Given the description of an element on the screen output the (x, y) to click on. 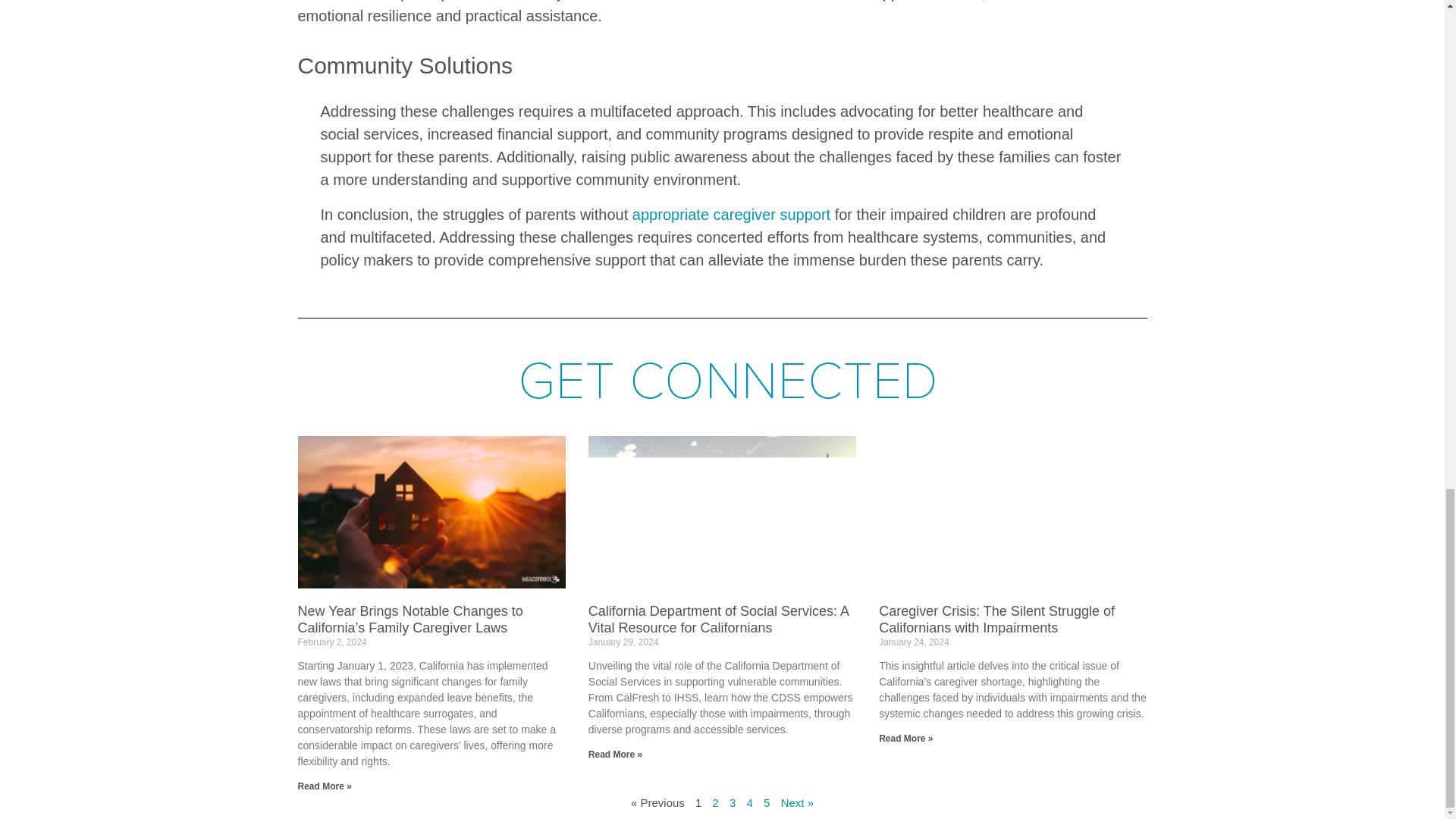
isolation (694, 0)
appropriate caregiver support (730, 214)
